Given the description of an element on the screen output the (x, y) to click on. 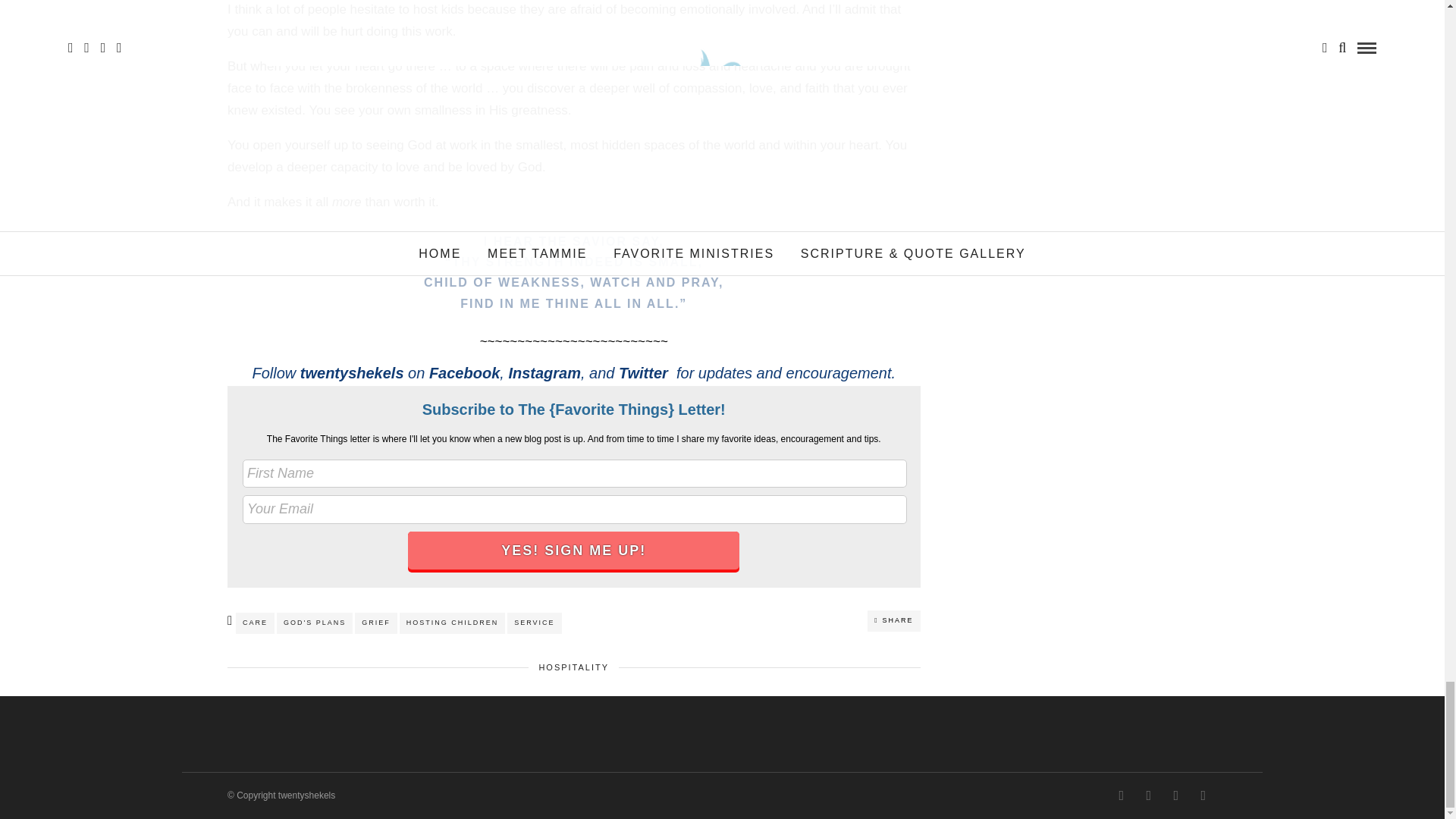
Yes! Sign me up! (573, 550)
GRIEF (376, 622)
Facebook (464, 372)
Instagram (1118, 795)
GOD'S PLANS (314, 622)
Pinterest (1144, 795)
SERVICE (533, 622)
Yes! Sign me up! (573, 550)
CARE (255, 622)
Instagram (544, 372)
HOSPITALITY (573, 666)
Twitter (643, 372)
HOSTING CHILDREN (451, 622)
